Given the description of an element on the screen output the (x, y) to click on. 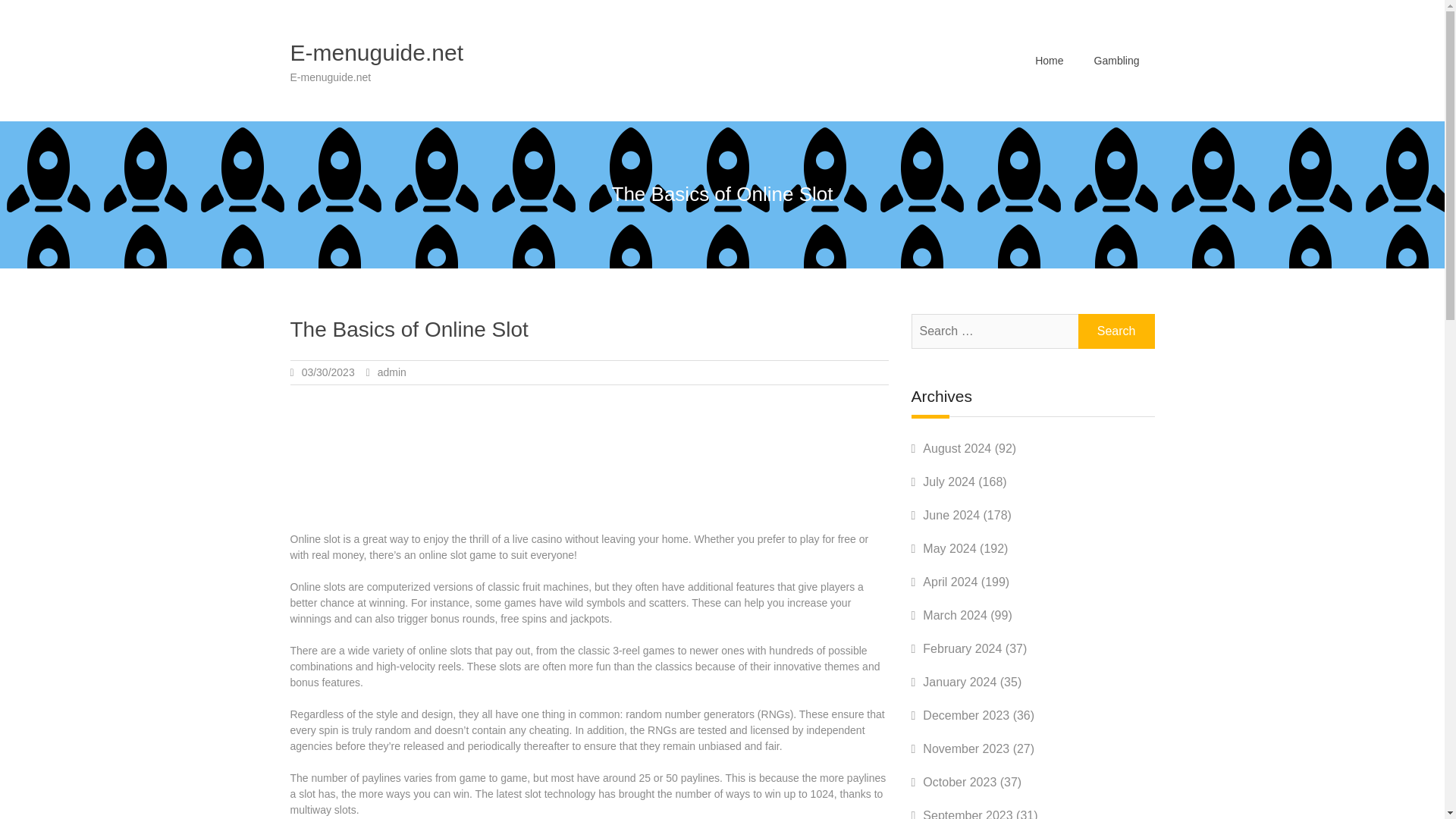
August 2024 (957, 448)
December 2023 (966, 715)
May 2024 (949, 548)
January 2024 (959, 681)
November 2023 (966, 748)
Search (1116, 330)
Home (1049, 59)
October 2023 (959, 781)
Search (1116, 330)
E-menuguide.net (376, 52)
